Given the description of an element on the screen output the (x, y) to click on. 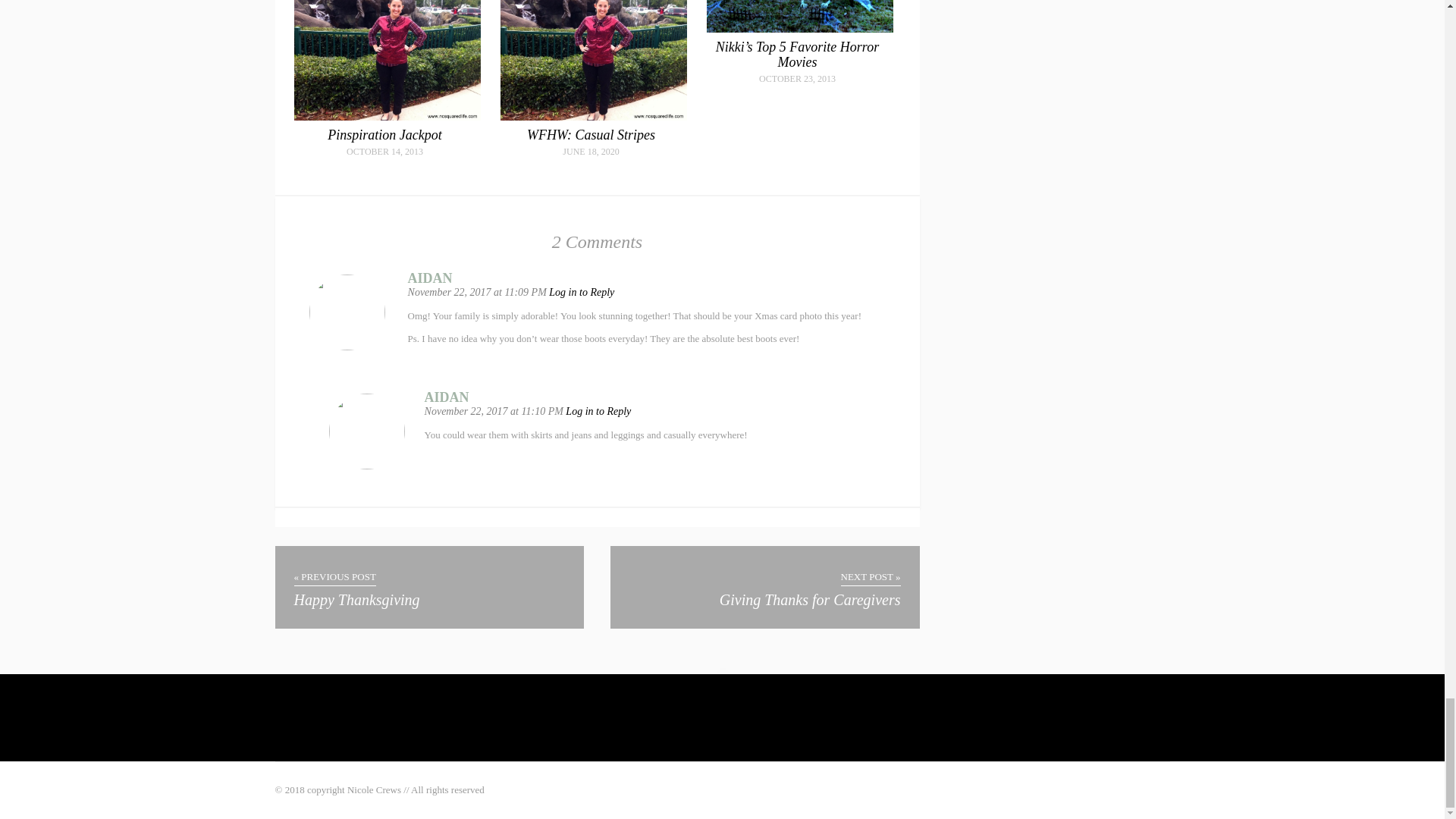
Permanent (387, 116)
Permanent (593, 116)
Permanent (384, 134)
Permanent (797, 54)
Permanent (591, 134)
Permanent (799, 29)
